Given the description of an element on the screen output the (x, y) to click on. 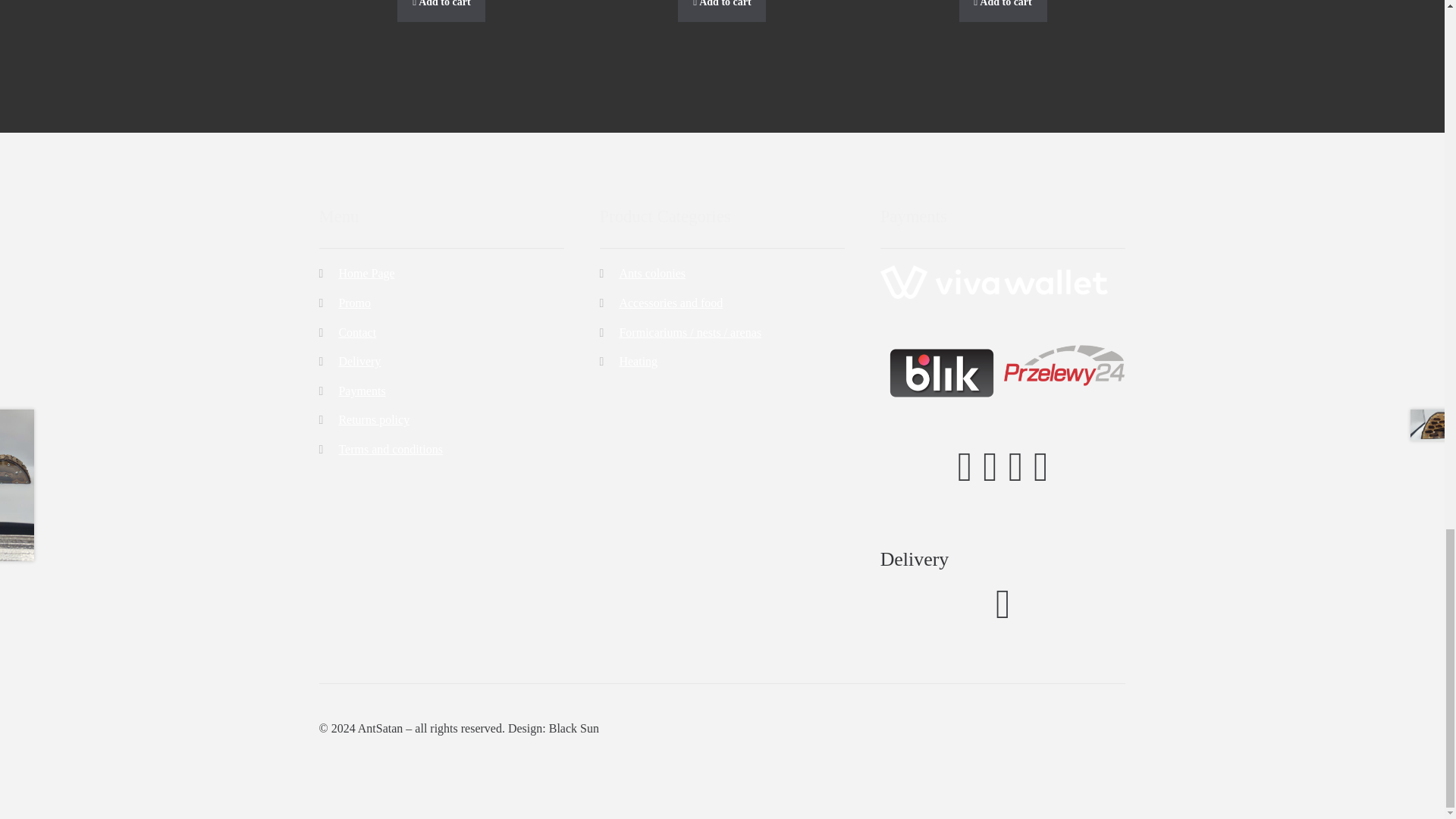
Add to cart (721, 11)
Payments (361, 390)
Ants colonies (651, 273)
Home Page (365, 273)
Accessories and food (670, 302)
Add to cart (440, 11)
Delivery (358, 360)
Promo (354, 302)
Terms and conditions (389, 449)
Add to cart (1002, 11)
